Given the description of an element on the screen output the (x, y) to click on. 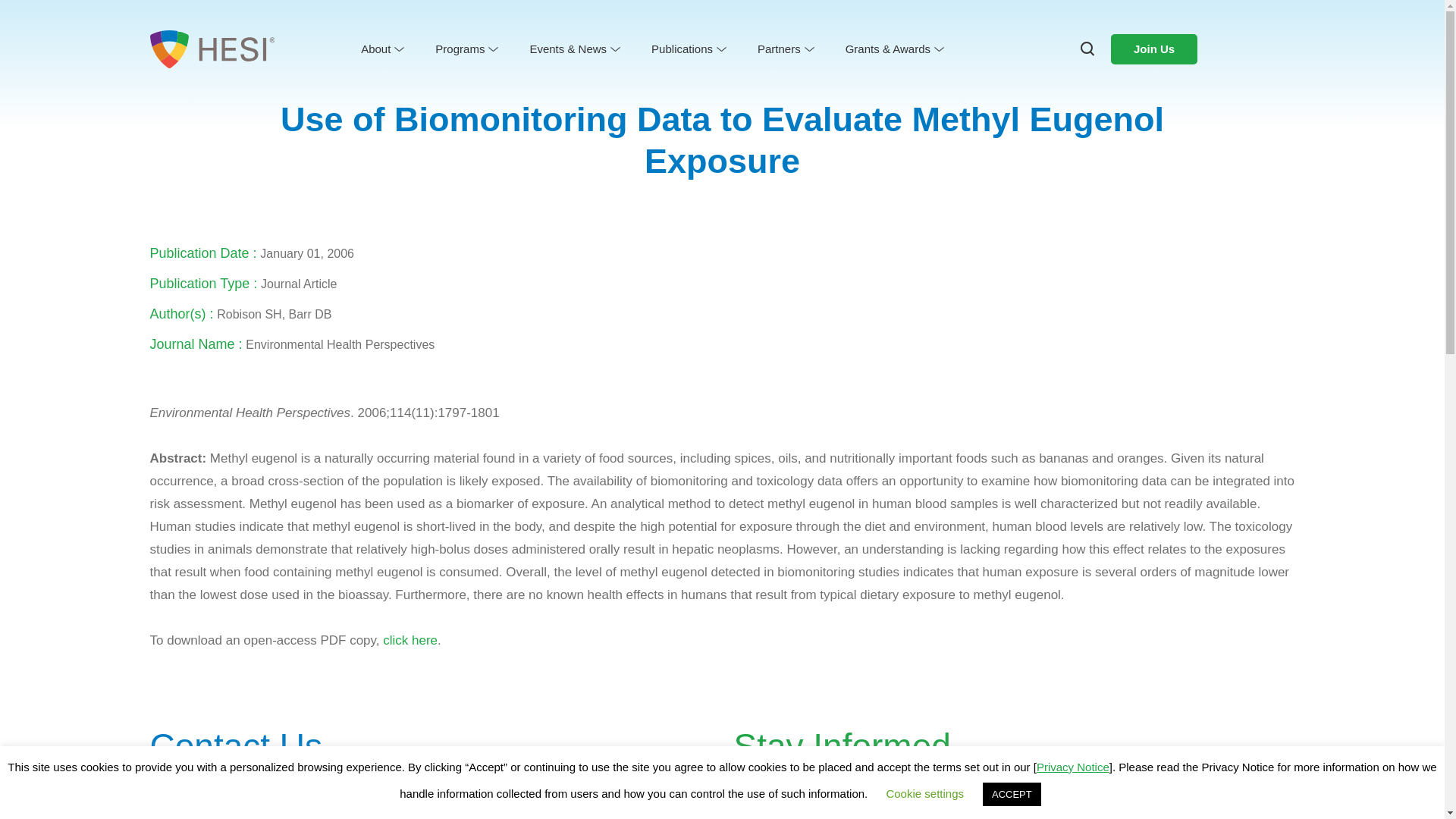
click here (410, 640)
HESI Conference Series (595, 73)
Join Us (1153, 49)
THRIVE (891, 73)
Search (47, 22)
Programs (465, 48)
About (381, 48)
Current Partners (809, 73)
Partners (784, 48)
Peer-Reviewed Publications (723, 73)
